Given the description of an element on the screen output the (x, y) to click on. 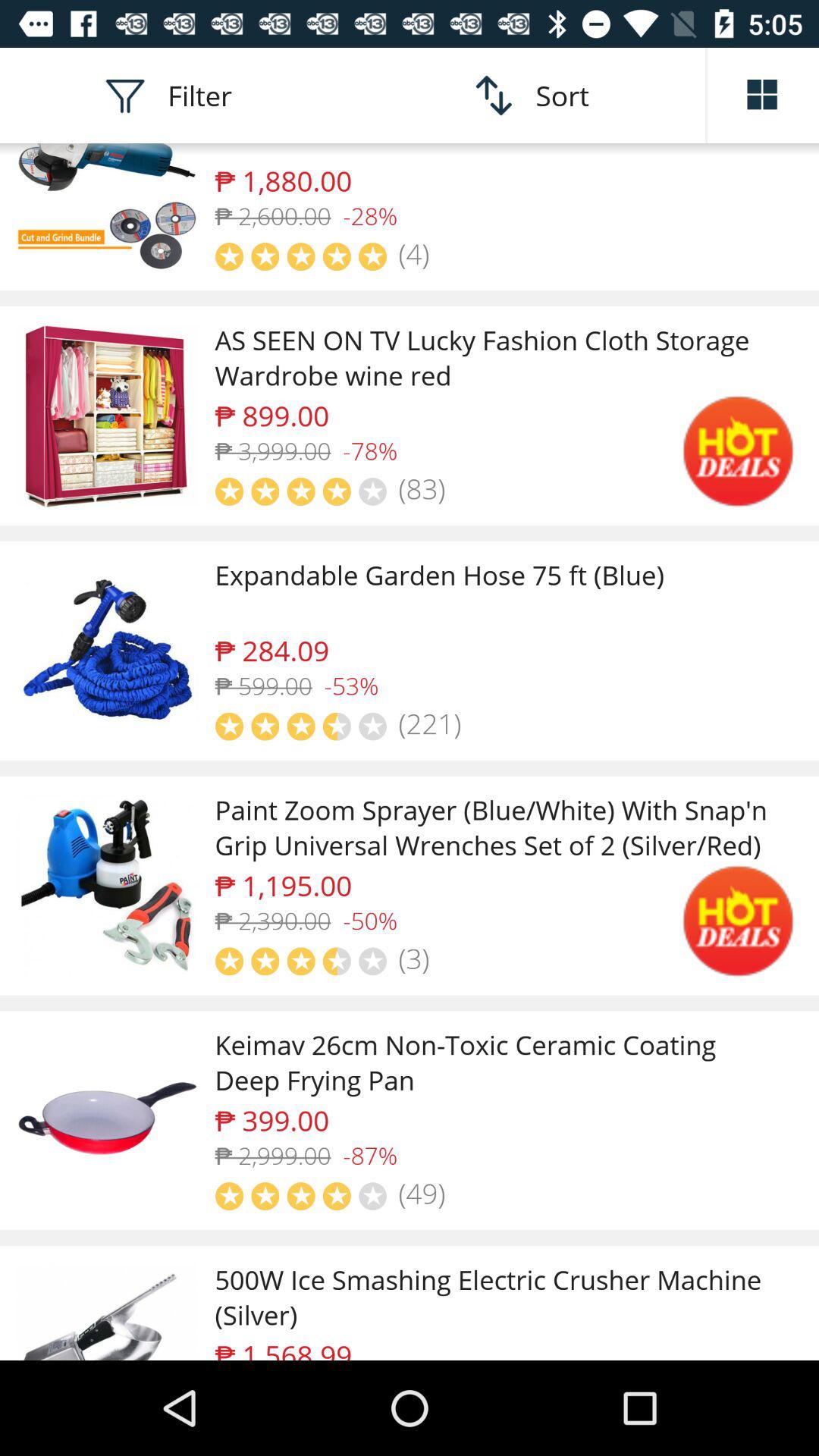
go to the menu (763, 95)
